Given the description of an element on the screen output the (x, y) to click on. 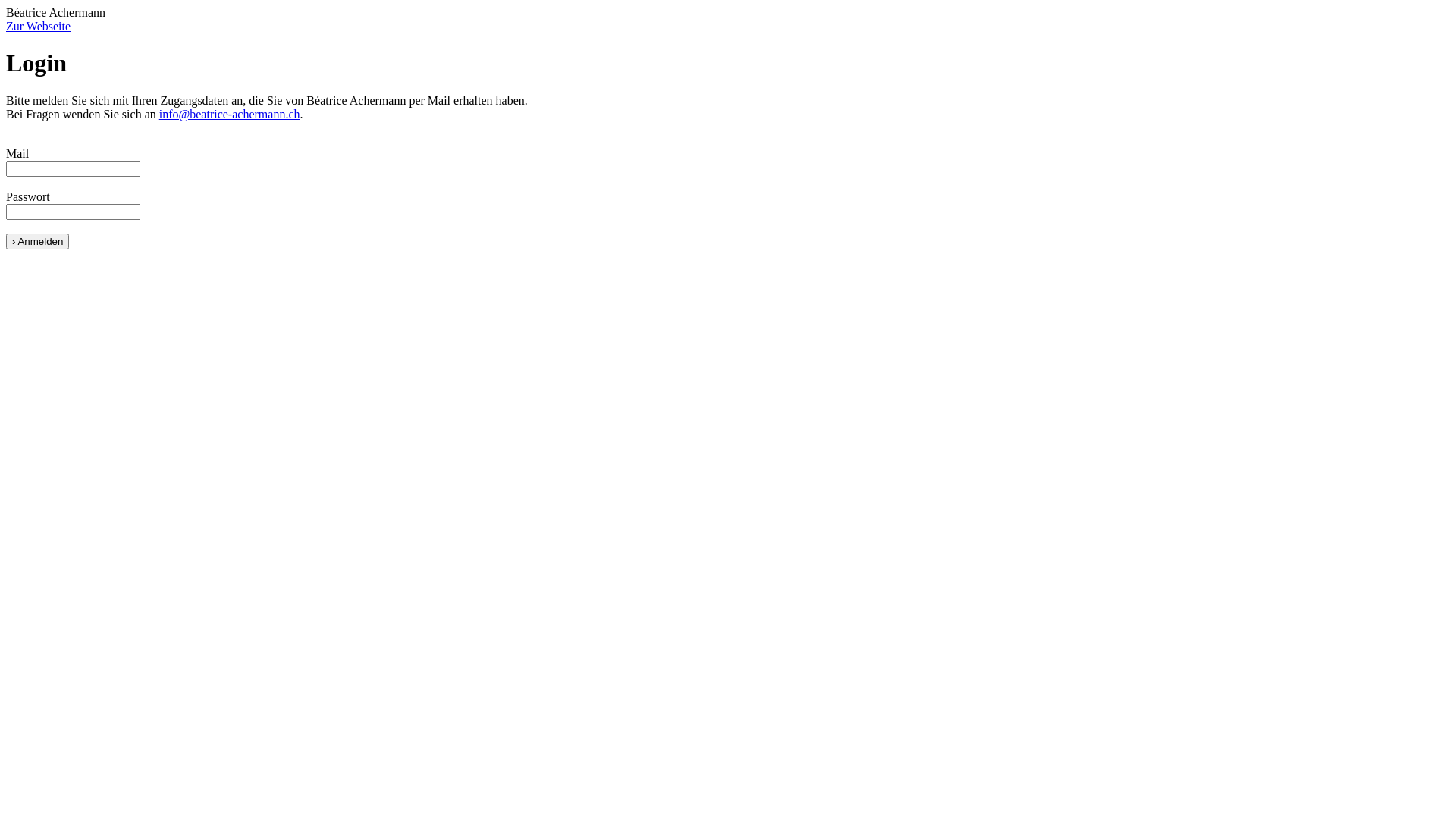
Zur Webseite Element type: text (38, 25)
info@beatrice-achermann.ch Element type: text (229, 113)
